Given the description of an element on the screen output the (x, y) to click on. 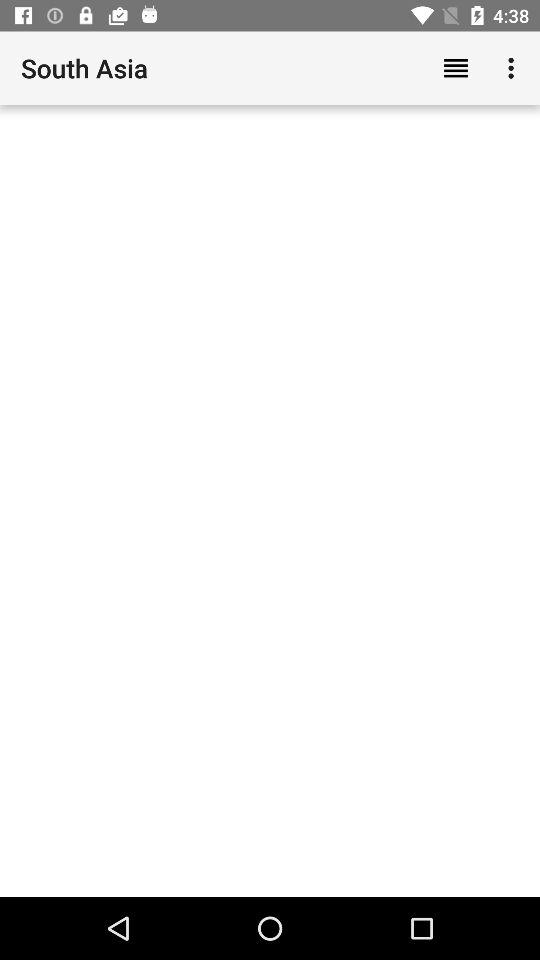
select app next to the south asia icon (455, 67)
